Given the description of an element on the screen output the (x, y) to click on. 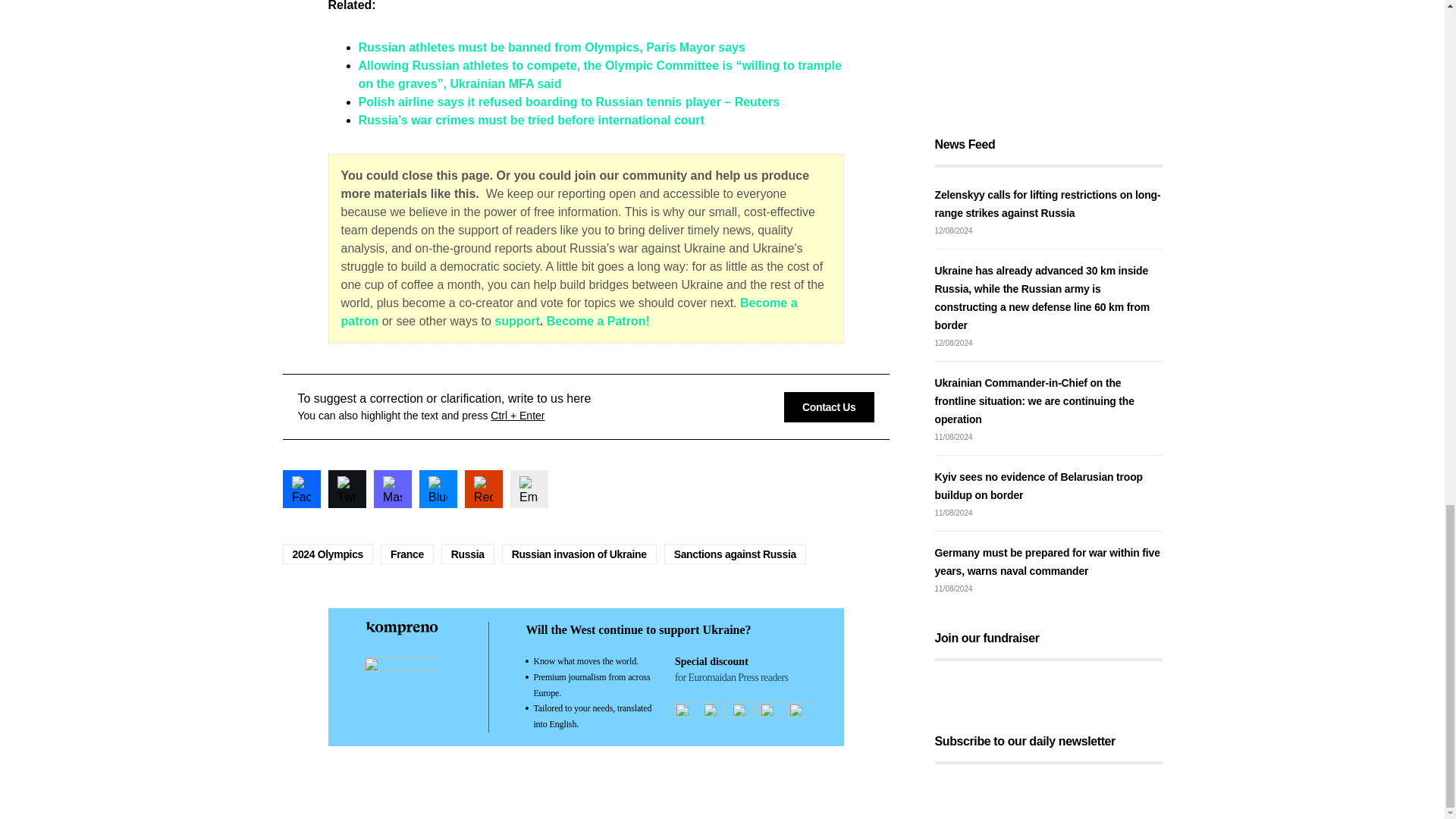
Share to Bluesky (438, 488)
Share to Reddit (483, 488)
Share to Mastodon (391, 488)
Share to Email (528, 488)
Share to Facebook (301, 488)
Share to Twitter (346, 488)
